Given the description of an element on the screen output the (x, y) to click on. 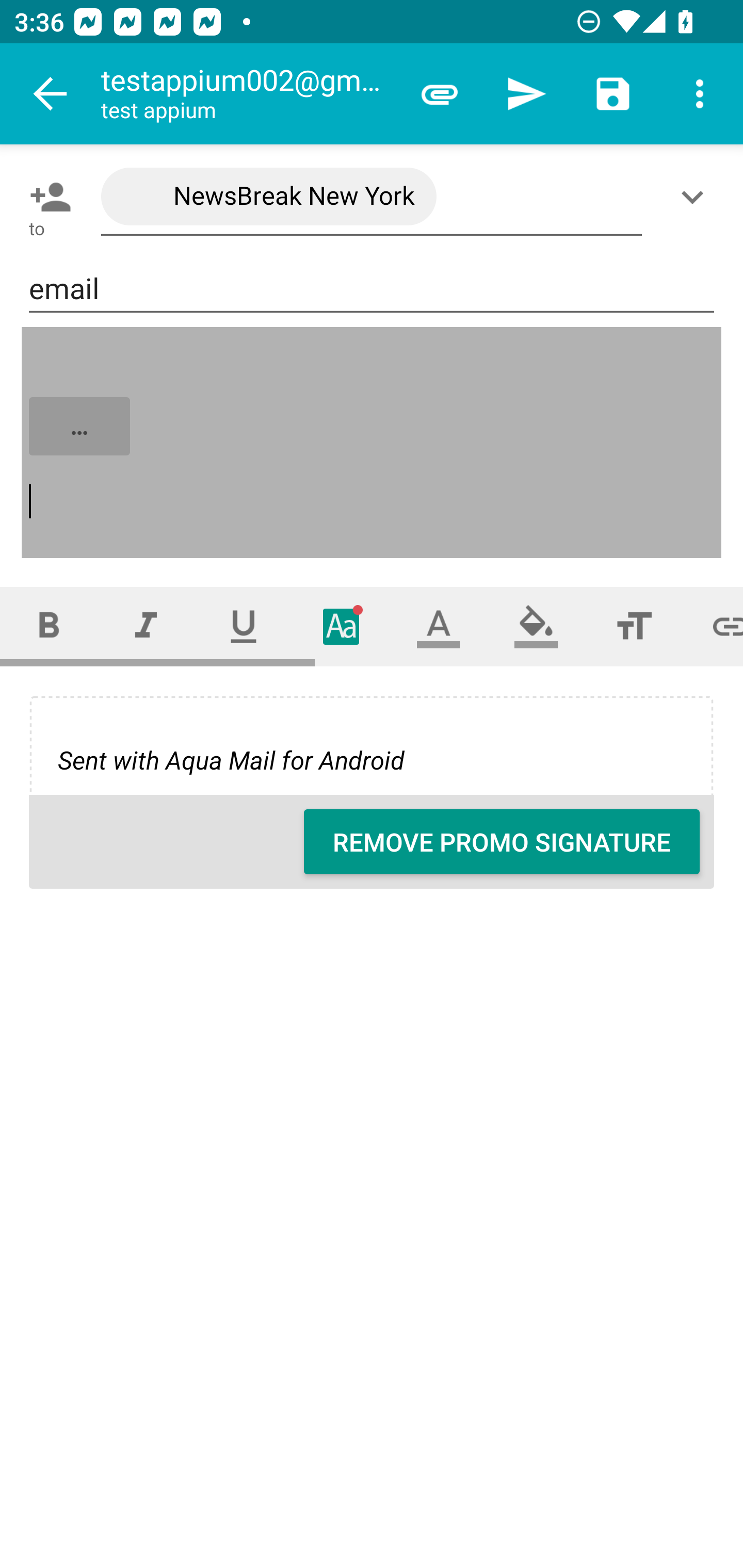
Navigate up (50, 93)
testappium002@gmail.com test appium (248, 93)
Attach (439, 93)
Send (525, 93)
Save (612, 93)
More options (699, 93)
Pick contact: To (46, 196)
Show/Add CC/BCC (696, 196)
email (371, 288)

…
 (372, 442)
Bold (48, 626)
Italic (145, 626)
Underline (243, 626)
Typeface (font) (341, 626)
Text color (438, 626)
Fill color (536, 626)
Font size (633, 626)
REMOVE PROMO SIGNATURE (501, 841)
